Given the description of an element on the screen output the (x, y) to click on. 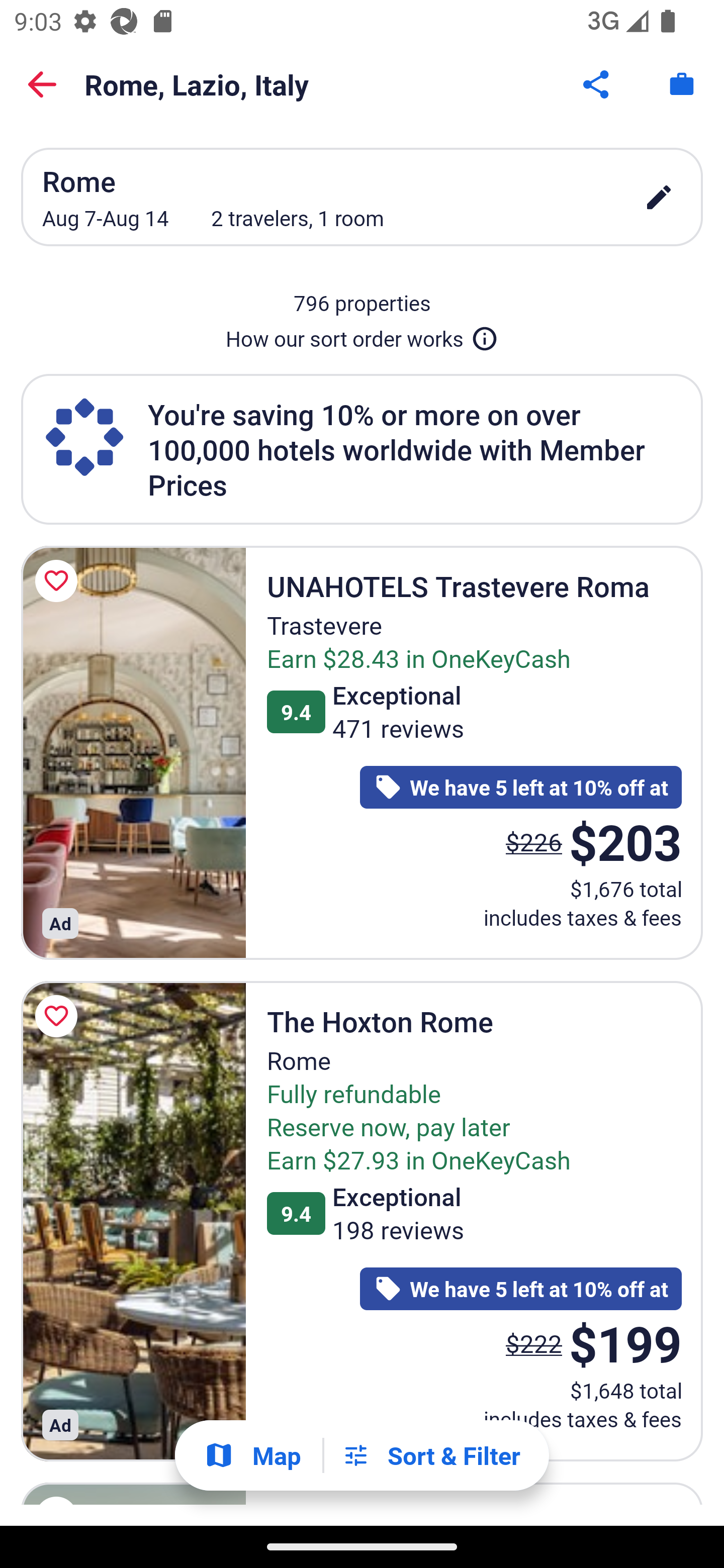
Back (42, 84)
Share Button (597, 84)
Trips. Button (681, 84)
Rome Aug 7-Aug 14 2 travelers, 1 room edit (361, 196)
How our sort order works (361, 334)
Save UNAHOTELS Trastevere Roma to a trip (59, 580)
UNAHOTELS Trastevere Roma (133, 752)
$226 The price was $226 (533, 841)
Save The Hoxton Rome to a trip (59, 1015)
The Hoxton Rome (133, 1221)
$222 The price was $222 (533, 1343)
Filters Sort & Filter Filters Button (430, 1455)
Show map Map Show map Button (252, 1455)
